Given the description of an element on the screen output the (x, y) to click on. 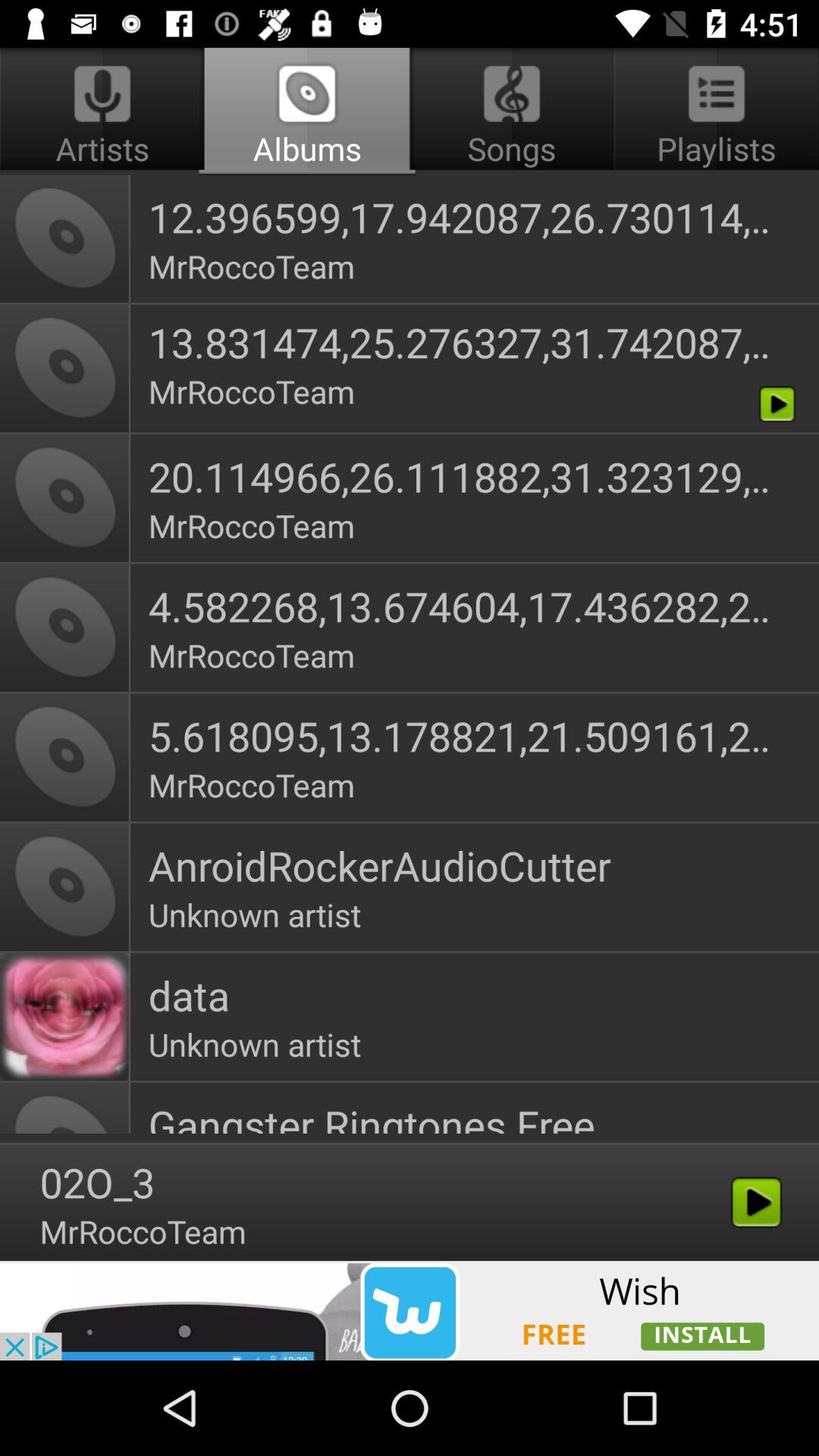
advertiser banner (409, 1310)
